Given the description of an element on the screen output the (x, y) to click on. 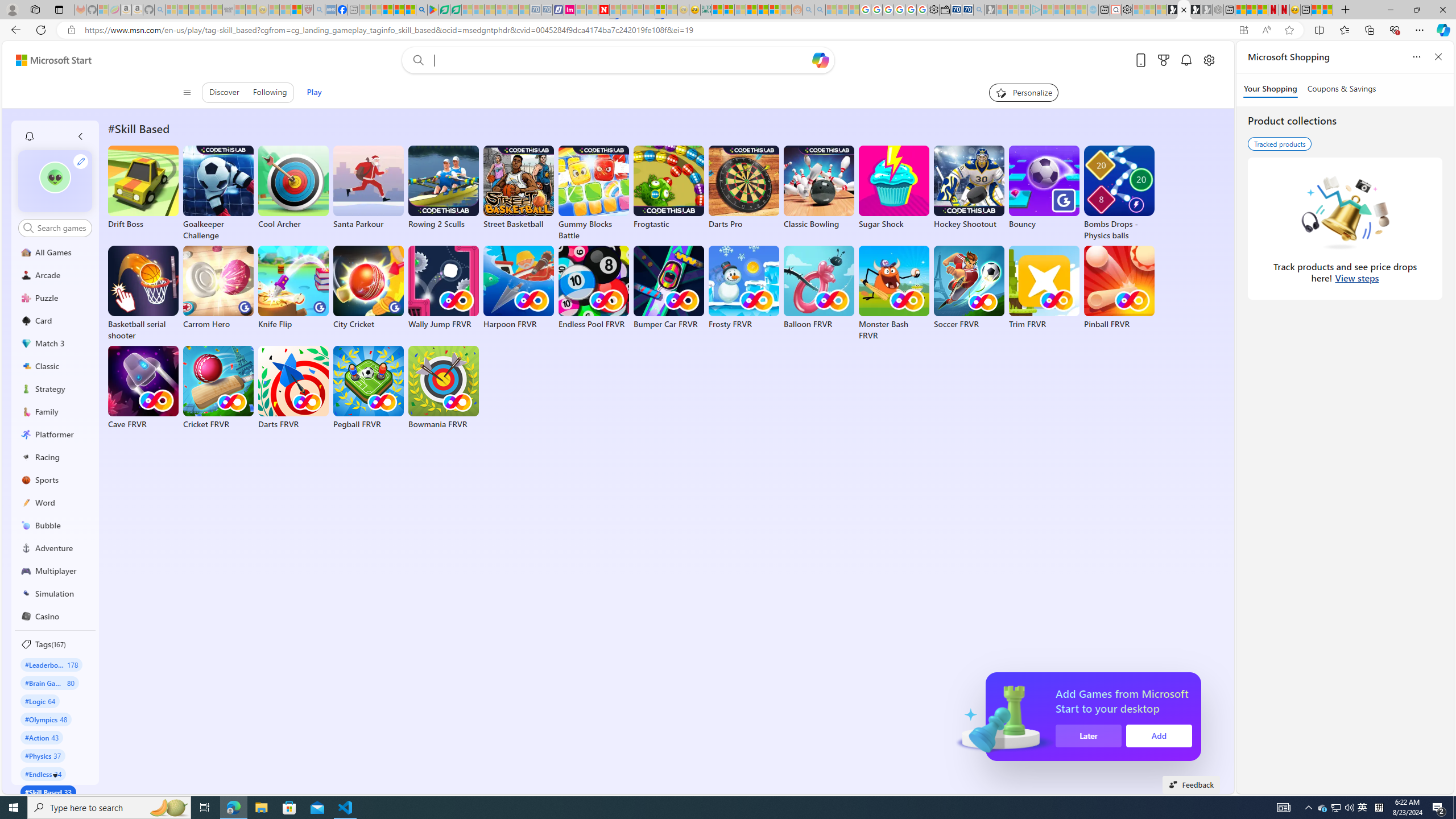
#Olympics 48 (46, 718)
Bumper Car FRVR (668, 287)
